Given the description of an element on the screen output the (x, y) to click on. 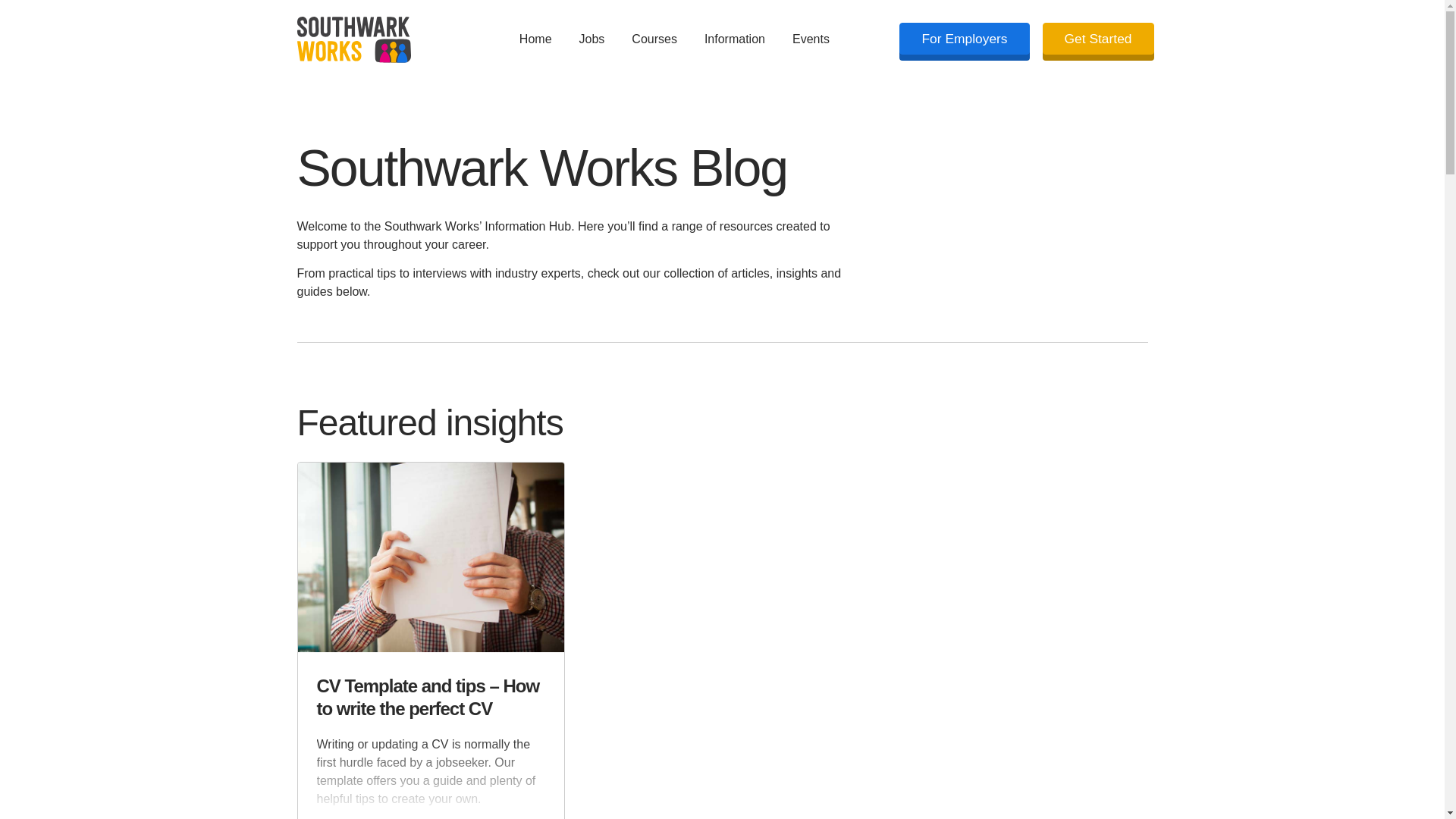
Information (734, 39)
Courses (653, 39)
Get Started (1098, 38)
Events (810, 39)
Jobs (592, 39)
For Employers (964, 38)
Home (535, 39)
